Given the description of an element on the screen output the (x, y) to click on. 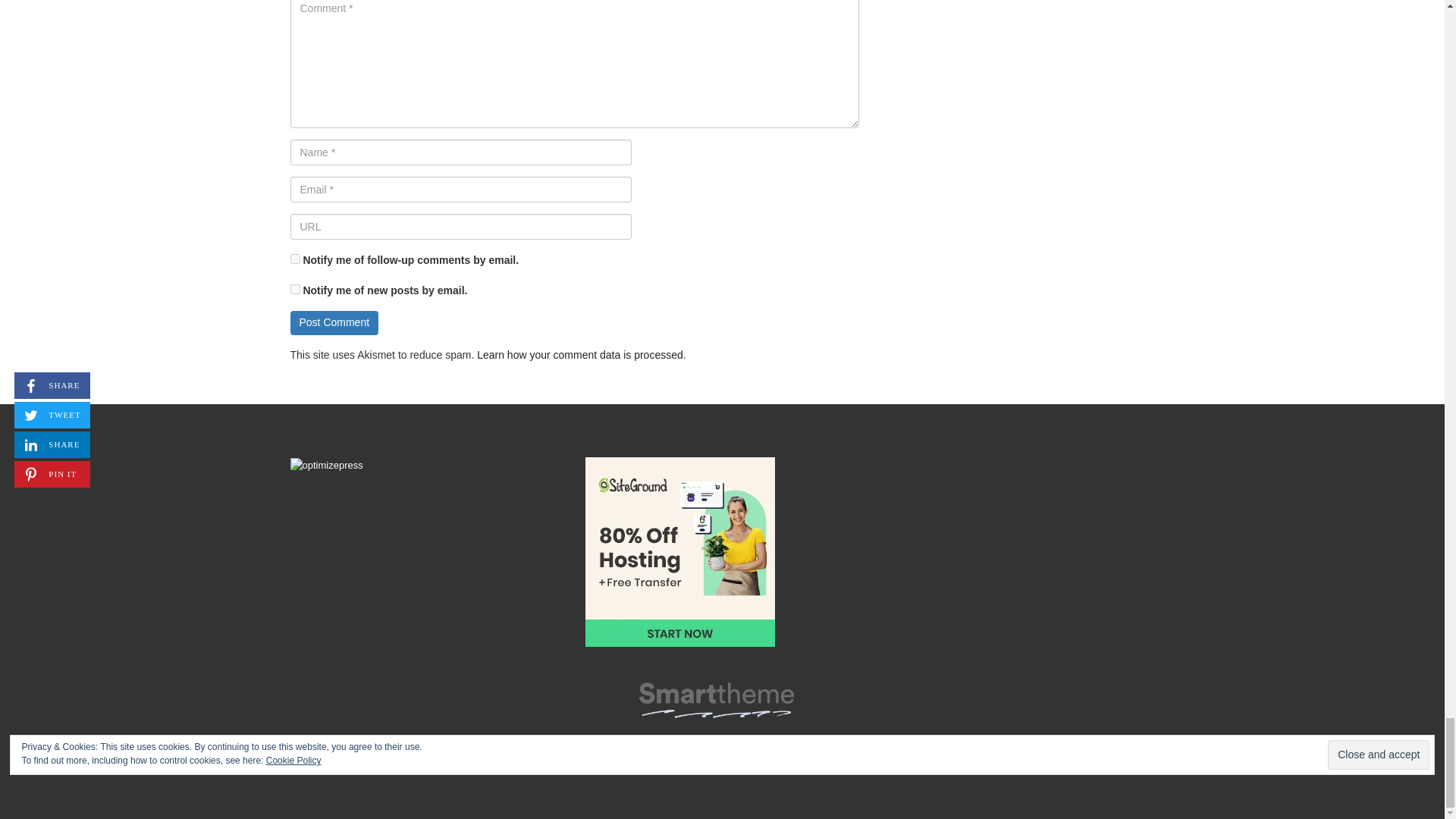
Post Comment (333, 322)
Post Comment (333, 322)
subscribe (294, 289)
subscribe (294, 258)
The Marketing Moms (716, 696)
Learn how your comment data is processed (579, 354)
